Given the description of an element on the screen output the (x, y) to click on. 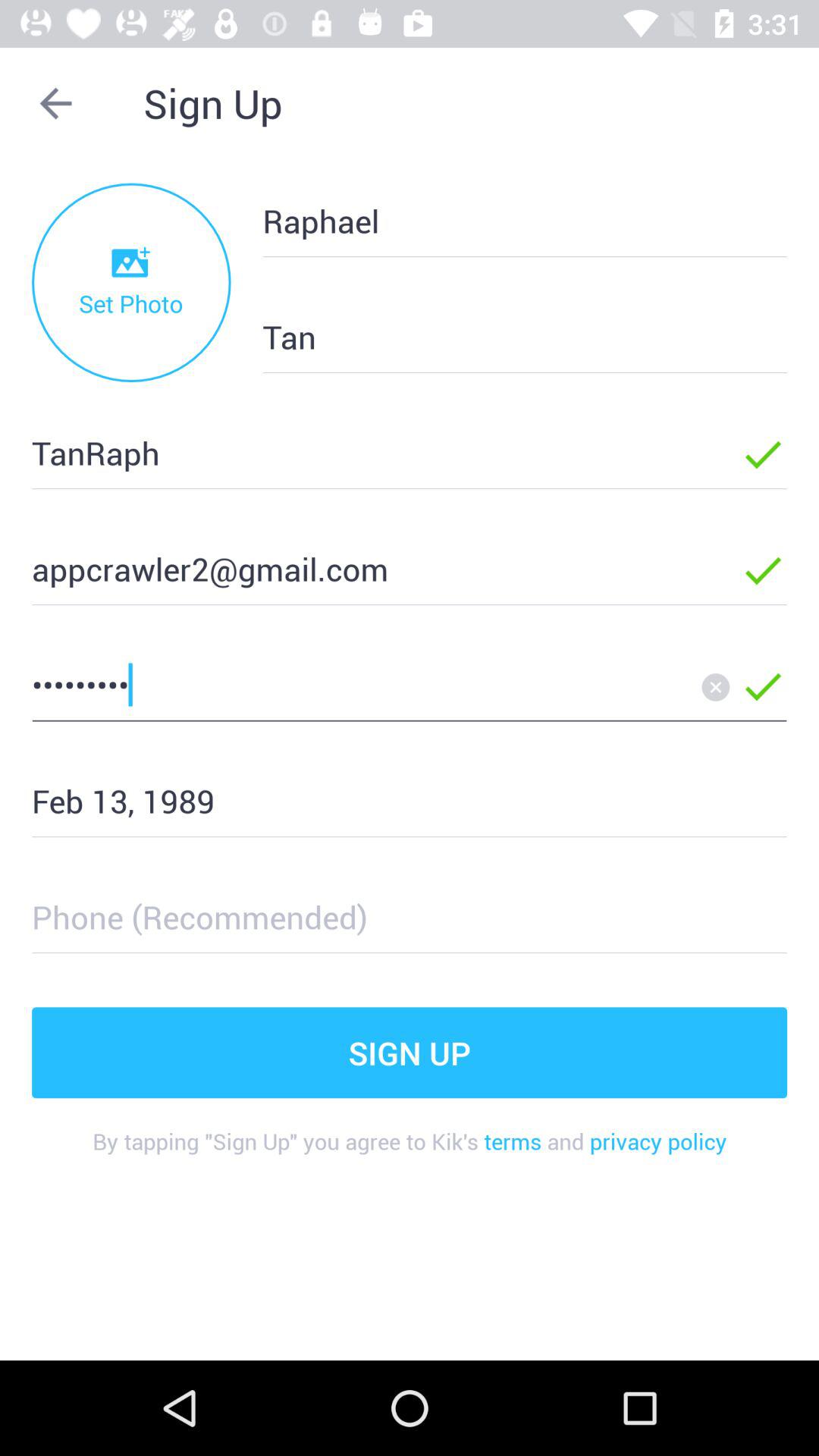
swipe to the crowd3116 item (361, 684)
